Given the description of an element on the screen output the (x, y) to click on. 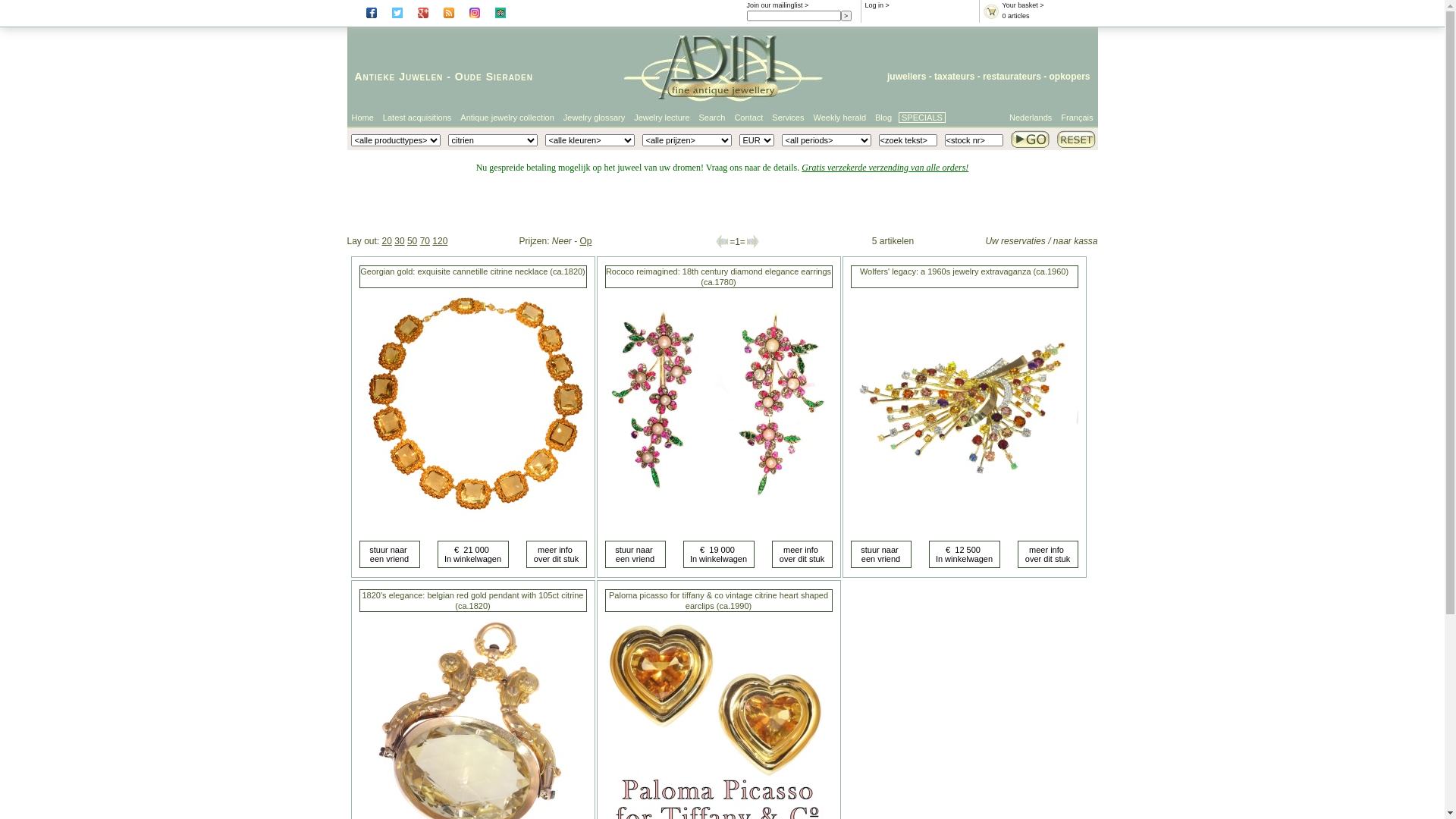
20 Element type: text (387, 240)
opkopers Element type: text (1068, 76)
juweliers Element type: text (906, 76)
Weekly herald Element type: text (840, 117)
50 Element type: text (412, 240)
SPECIALS Element type: text (921, 117)
Antique jewelry collection Element type: text (507, 117)
Blog Element type: text (883, 117)
Jewelry lecture Element type: text (661, 117)
Contact Element type: text (748, 117)
 >  Element type: text (845, 15)
Jewelry glossary Element type: text (594, 117)
restaurateurs Element type: text (1011, 76)
30 Element type: text (399, 240)
Join our mailinglist > Element type: text (777, 5)
Oude Sieraden Element type: text (494, 76)
70 Element type: text (424, 240)
Services Element type: text (787, 117)
Antieke Juwelen Element type: text (398, 76)
Log in Element type: text (873, 5)
120 Element type: text (439, 240)
Your basket > Element type: text (1023, 5)
Latest acquisitions Element type: text (417, 117)
Search Element type: text (712, 117)
taxateurs Element type: text (954, 76)
Home Element type: text (361, 117)
Op Element type: text (586, 240)
Nederlands Element type: text (1030, 117)
